Given the description of an element on the screen output the (x, y) to click on. 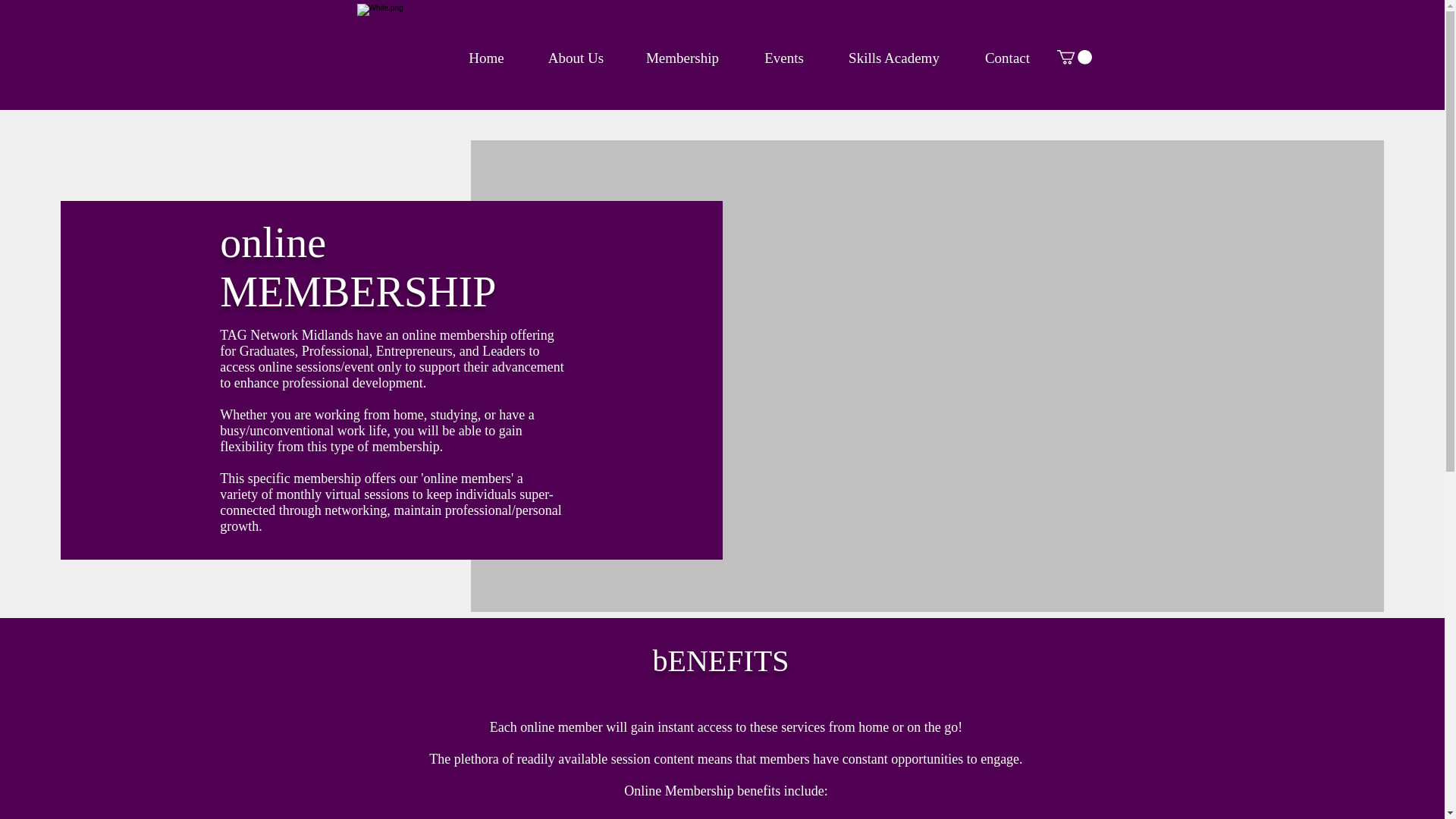
About Us (574, 57)
Events (783, 57)
Contact (1007, 57)
Membership (681, 57)
Home (485, 57)
Skills Academy (893, 57)
